Given the description of an element on the screen output the (x, y) to click on. 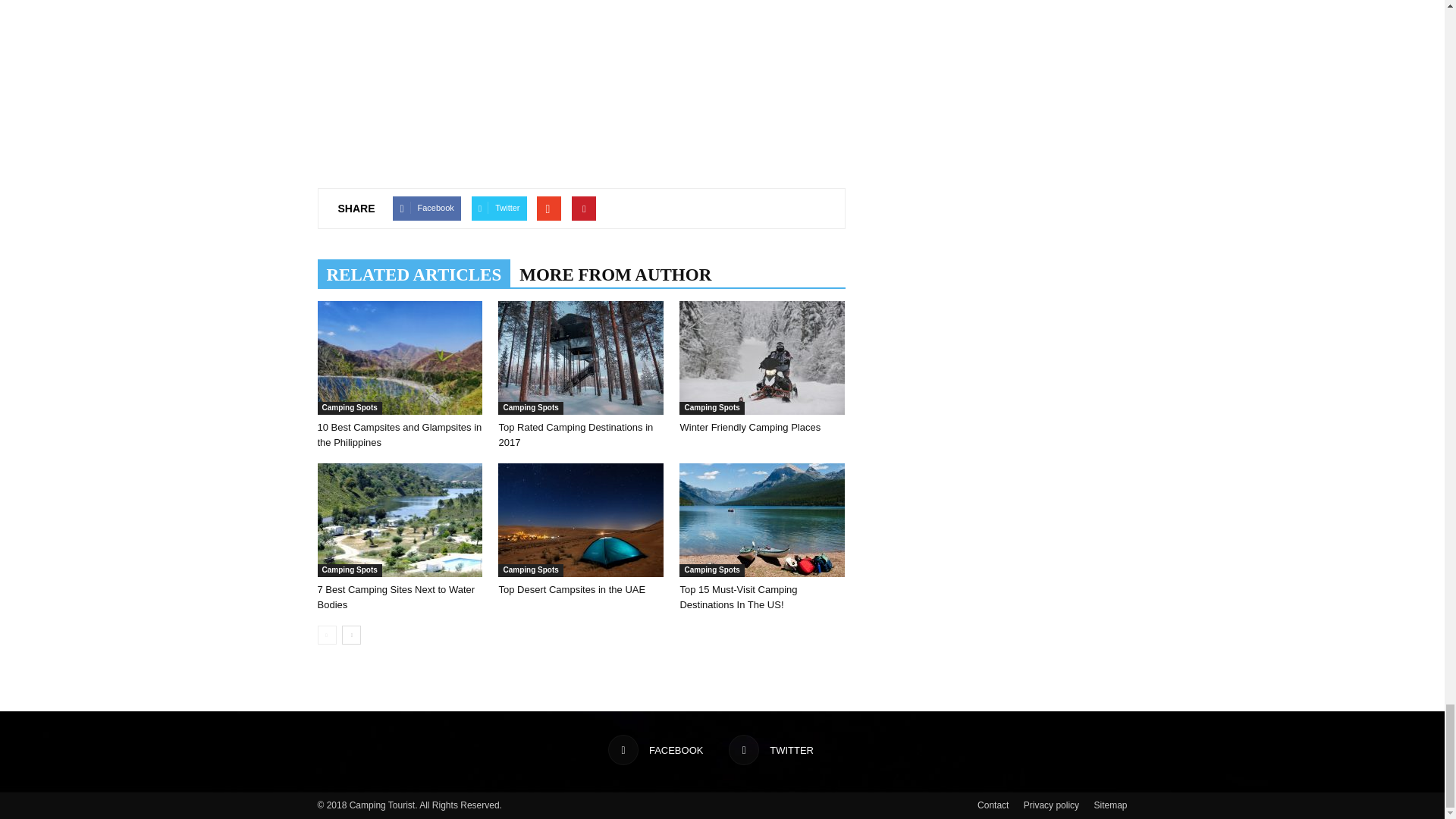
10 Best Campsites and Glampsites in the Philippines (399, 357)
10 Best Campsites and Glampsites in the Philippines (399, 434)
